Given the description of an element on the screen output the (x, y) to click on. 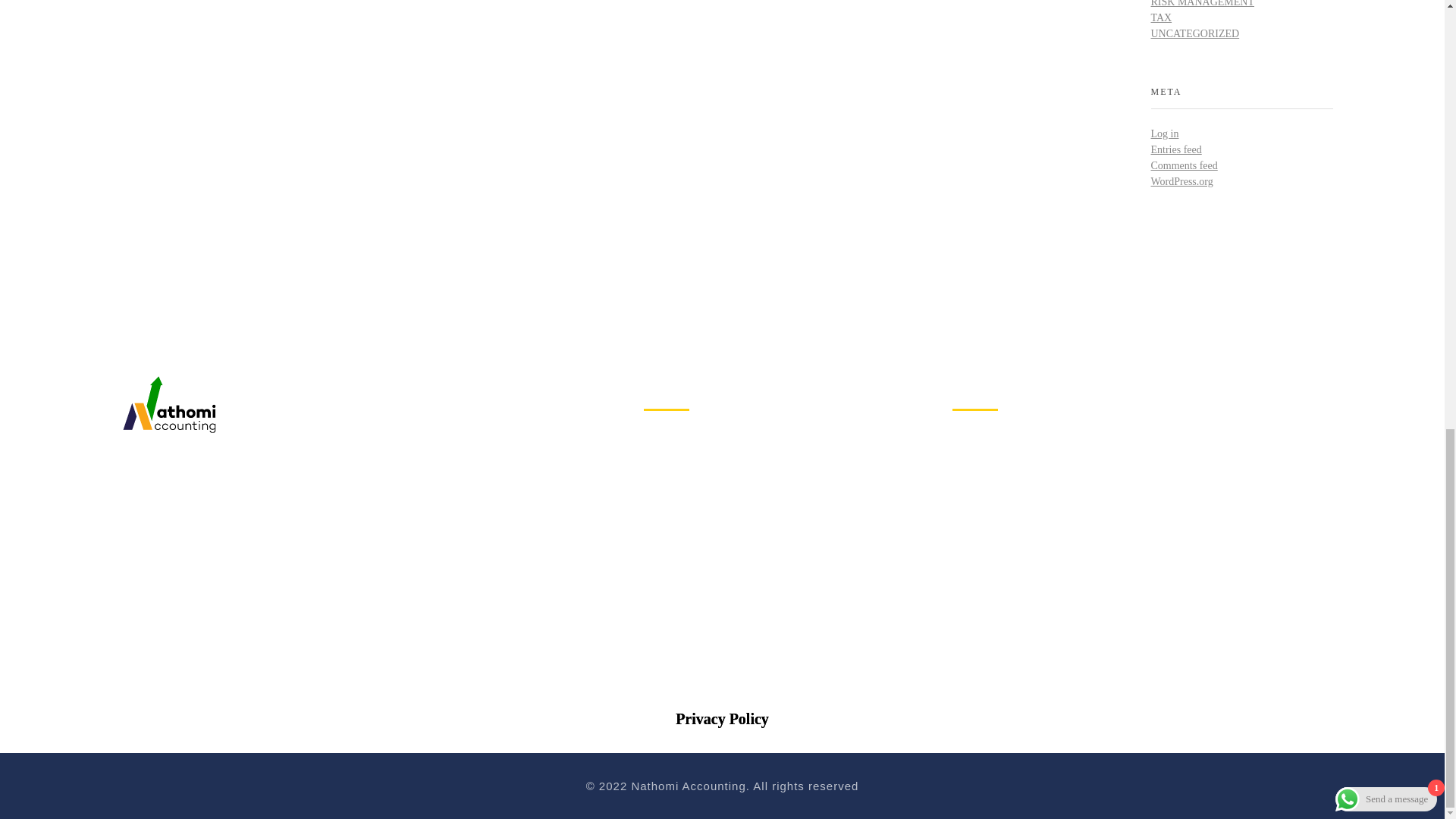
Nathomi Accounting (168, 403)
